Given the description of an element on the screen output the (x, y) to click on. 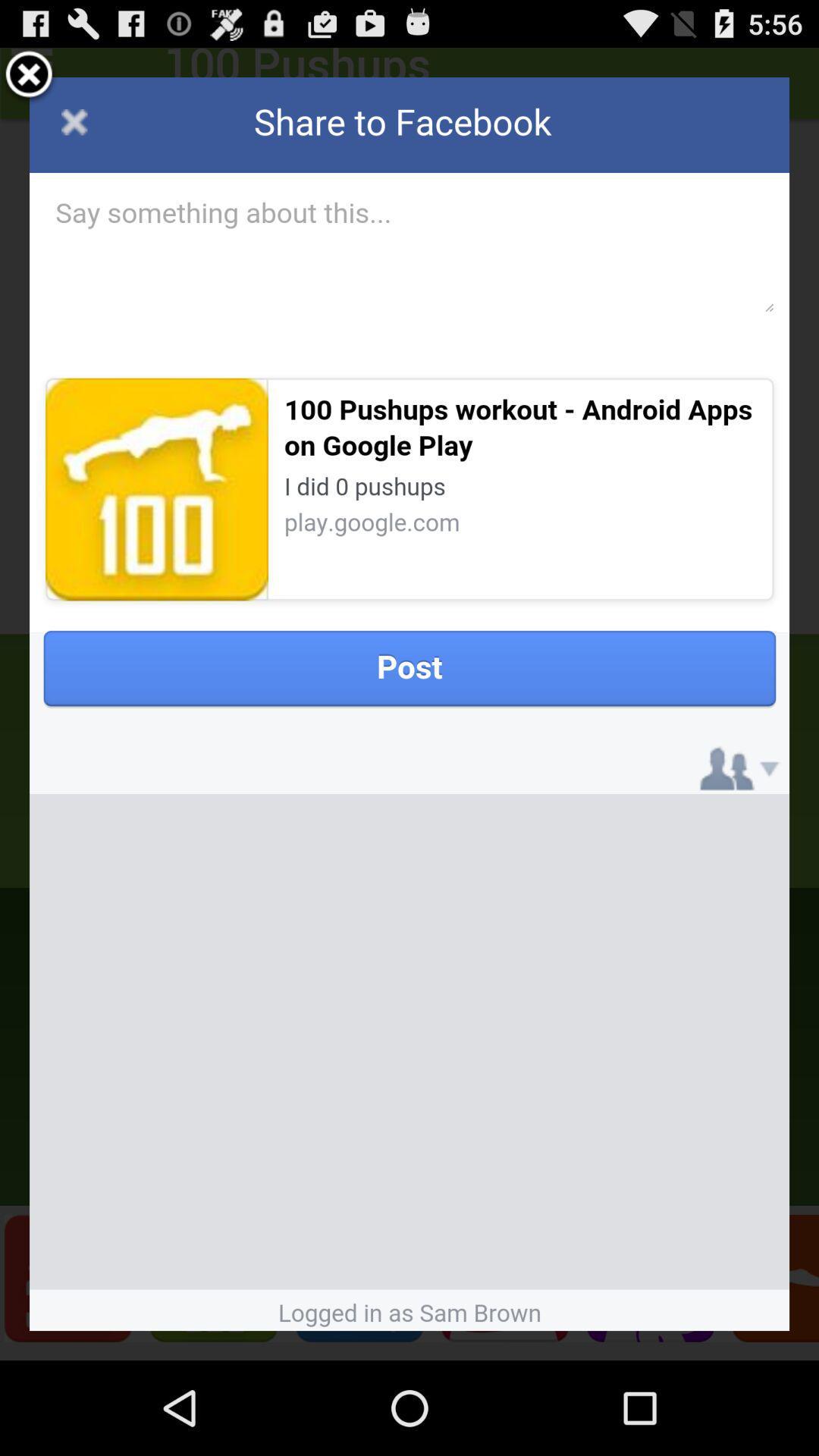
share to facebook (409, 703)
